Given the description of an element on the screen output the (x, y) to click on. 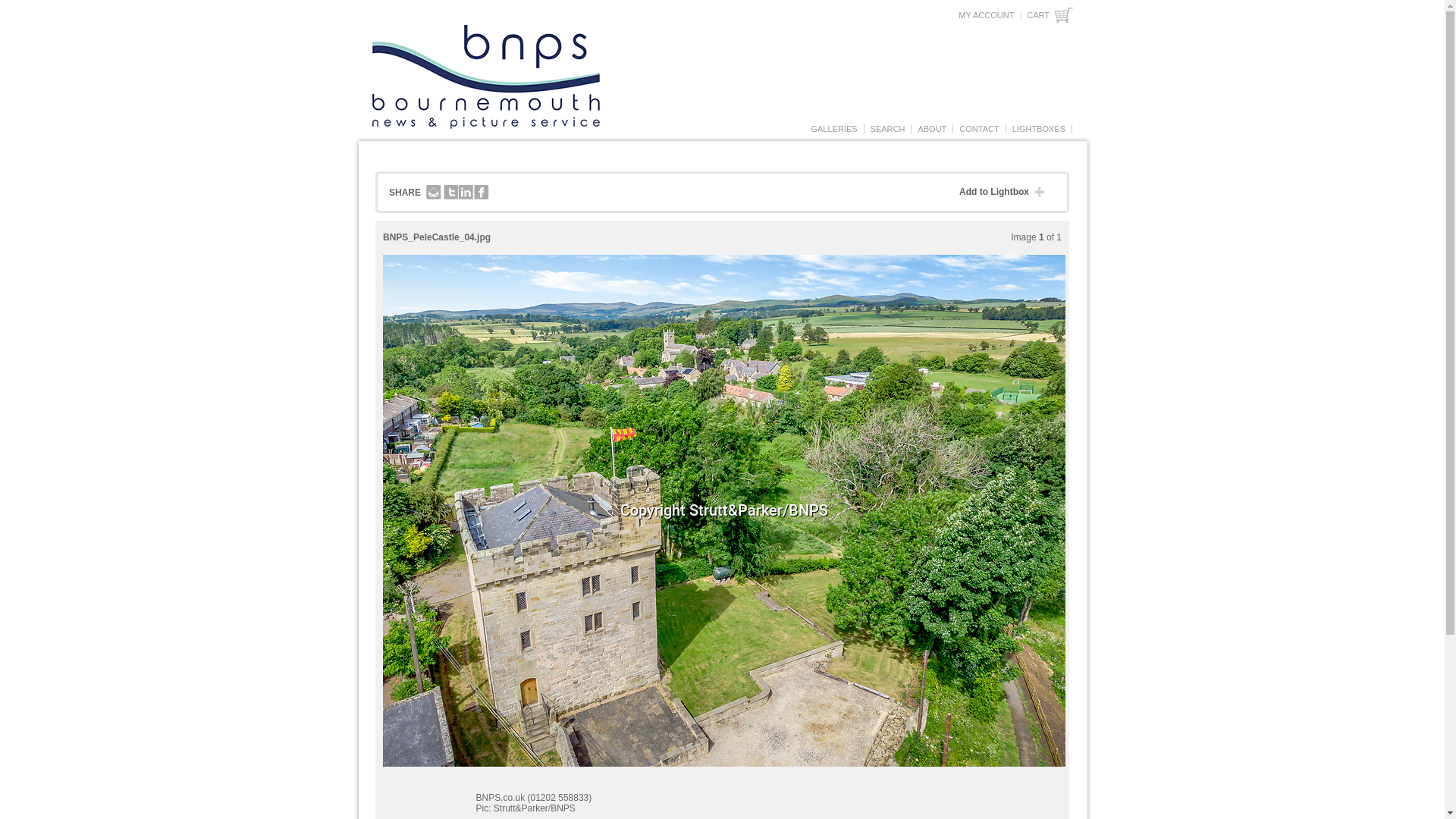
ABOUT (932, 128)
Email to a Friend (433, 192)
Search (887, 128)
CONTACT (979, 128)
LIGHTBOXES (1038, 128)
GALLERIES (833, 128)
SEARCH (887, 128)
Lightbox (1038, 128)
Add to Lightbox (1005, 192)
Contact (979, 128)
My Account (986, 15)
About (932, 128)
MY ACCOUNT (986, 15)
CART (1049, 14)
Cart (1049, 14)
